Given the description of an element on the screen output the (x, y) to click on. 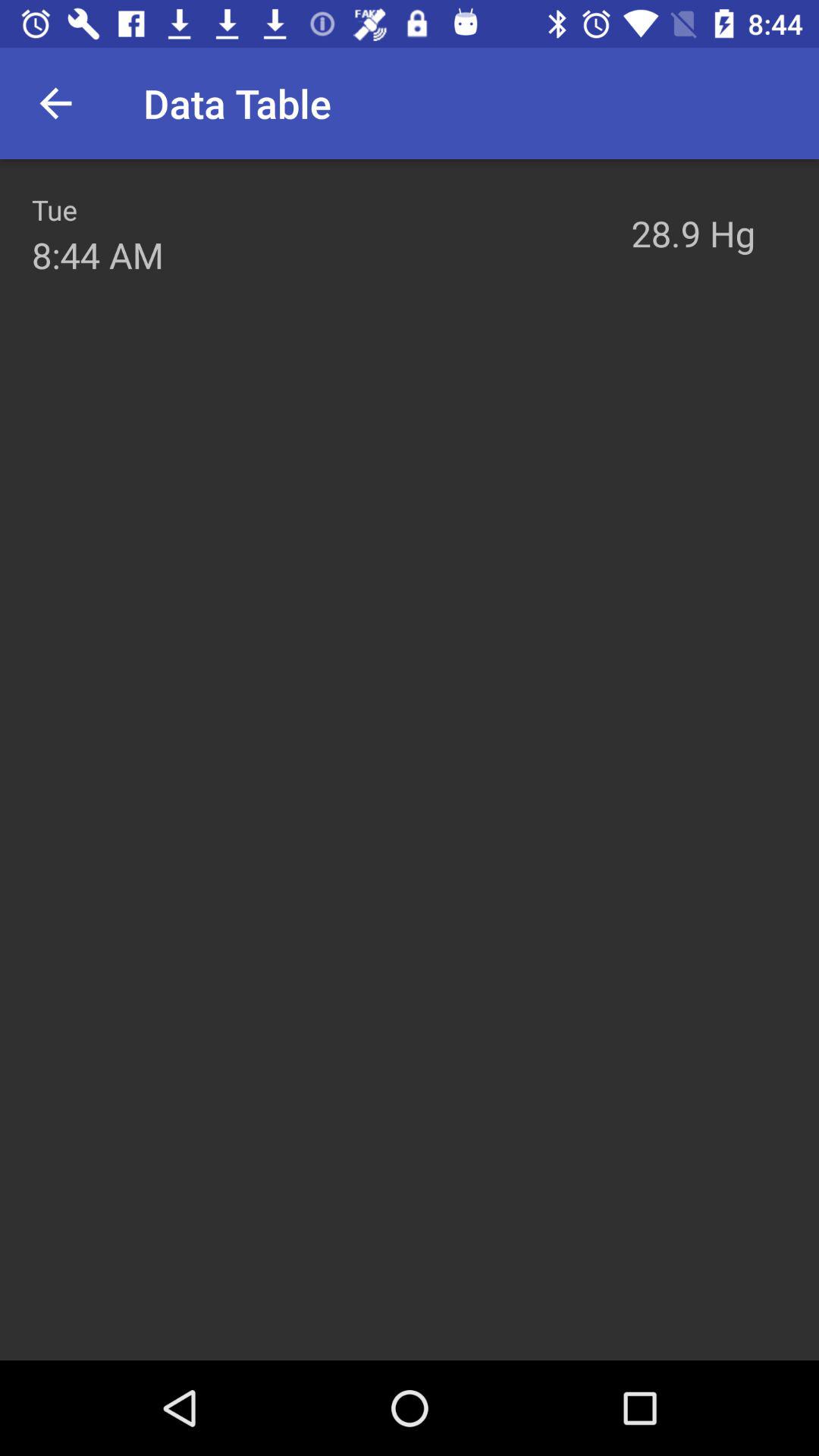
press the icon above tue item (55, 103)
